Given the description of an element on the screen output the (x, y) to click on. 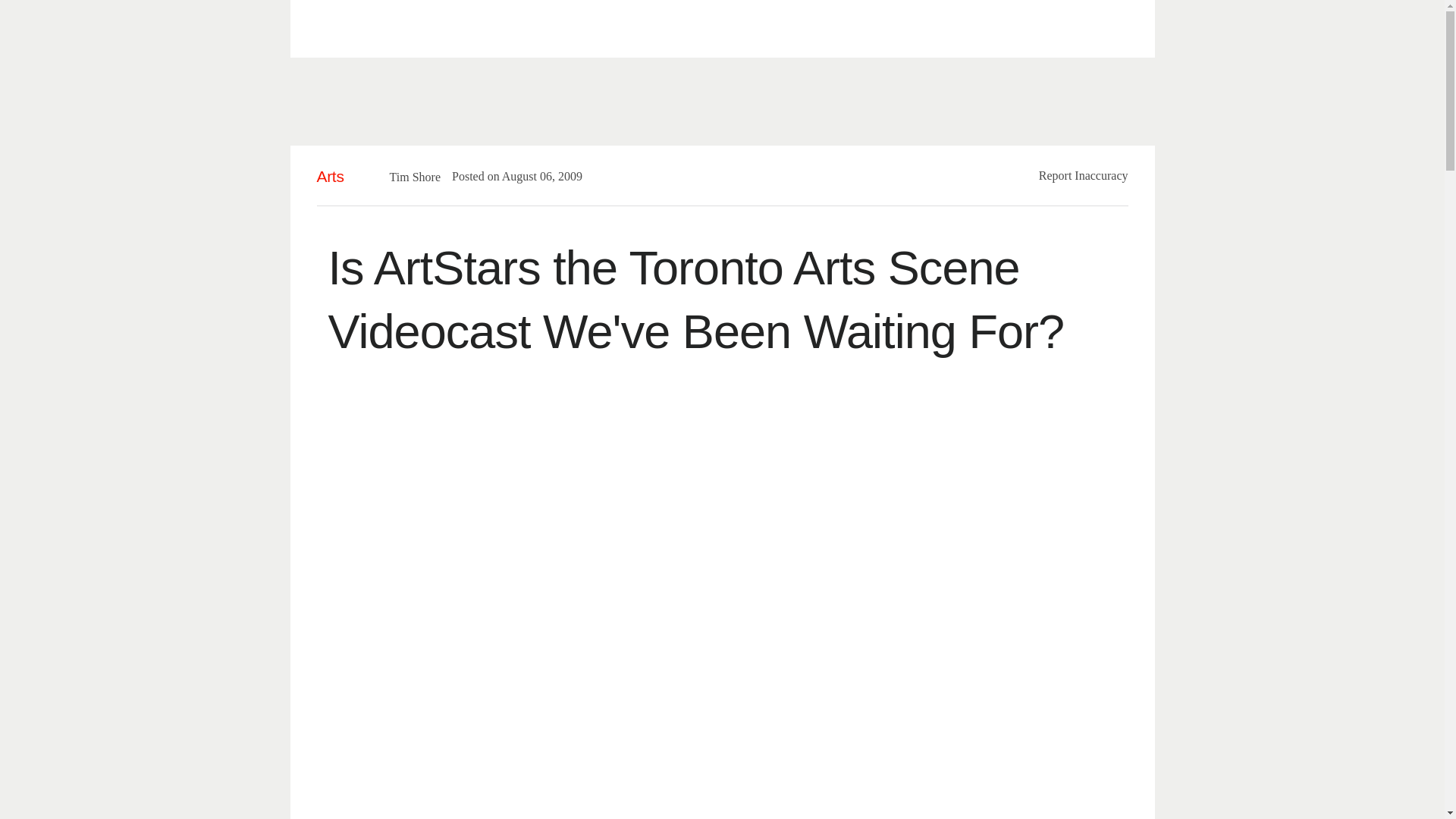
2009-08-06T10:45:00 (534, 175)
Arts (330, 175)
Report Inaccuracy (1083, 174)
